Given the description of an element on the screen output the (x, y) to click on. 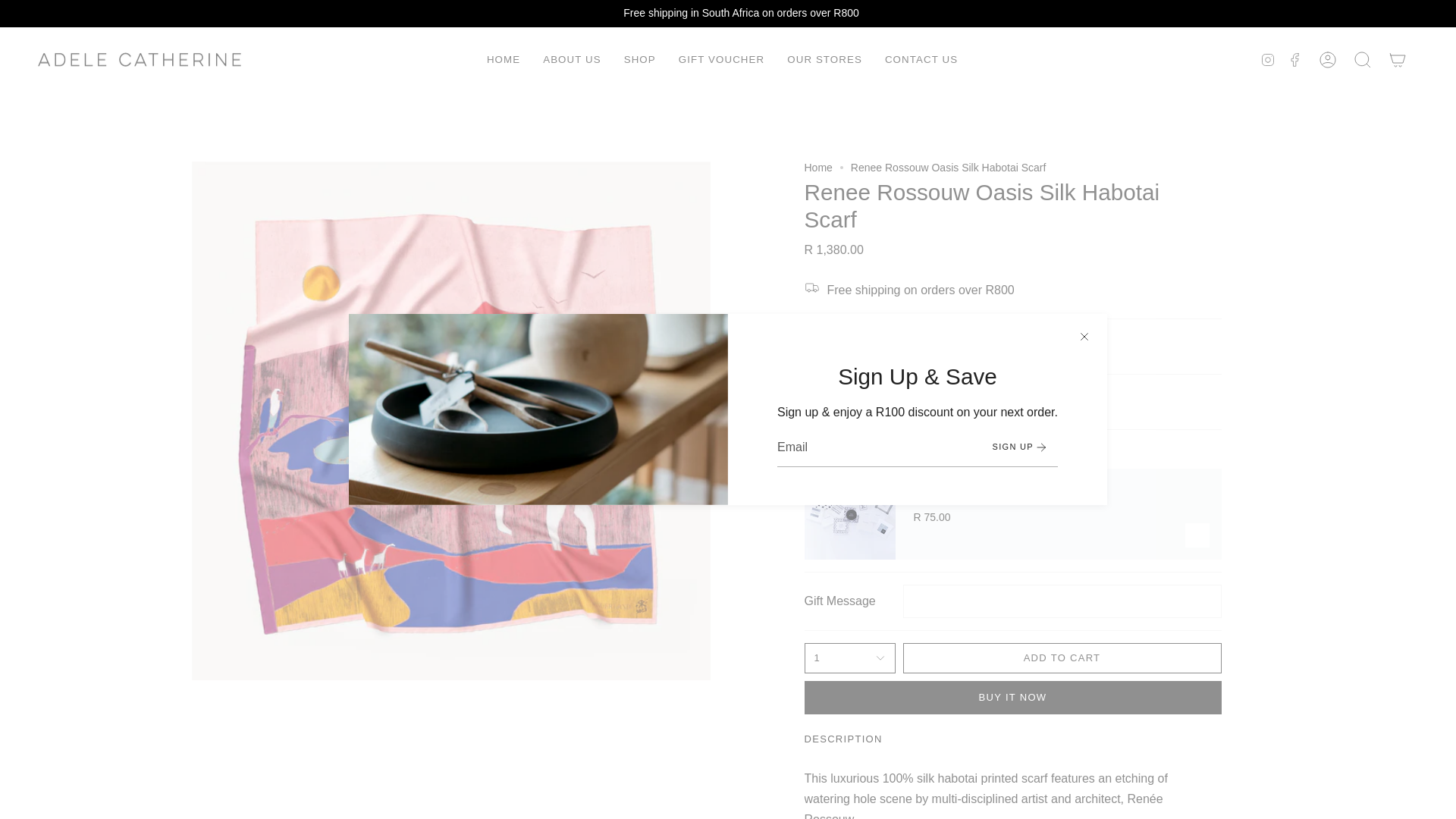
ABOUT US (571, 59)
Search (1362, 59)
My Account (1327, 59)
Close (1084, 336)
Cart (1397, 59)
SHOP (639, 59)
GIFT VOUCHER (721, 59)
HOME (503, 59)
